Given the description of an element on the screen output the (x, y) to click on. 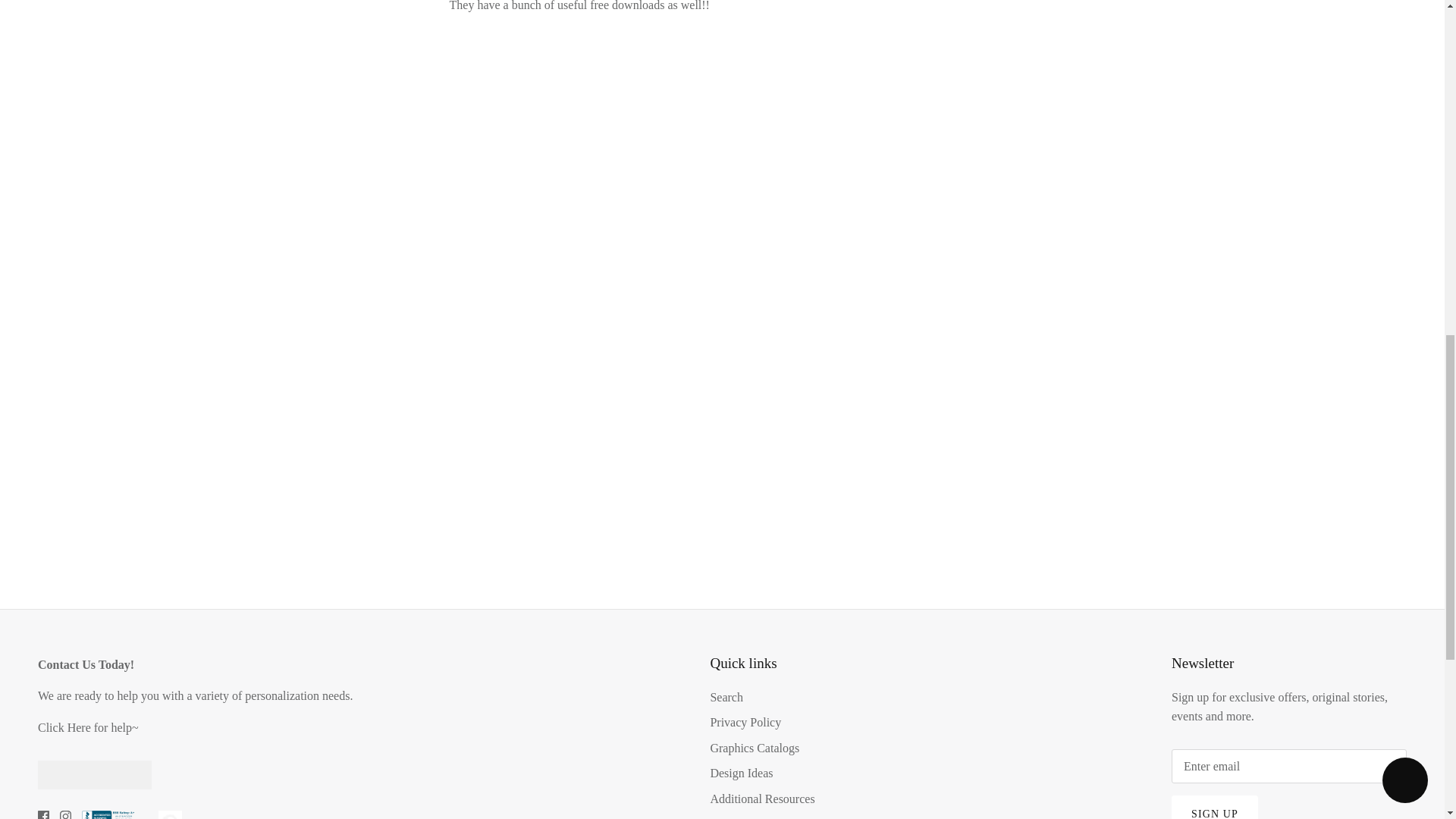
Instagram (65, 814)
Facebook (43, 814)
